Given the description of an element on the screen output the (x, y) to click on. 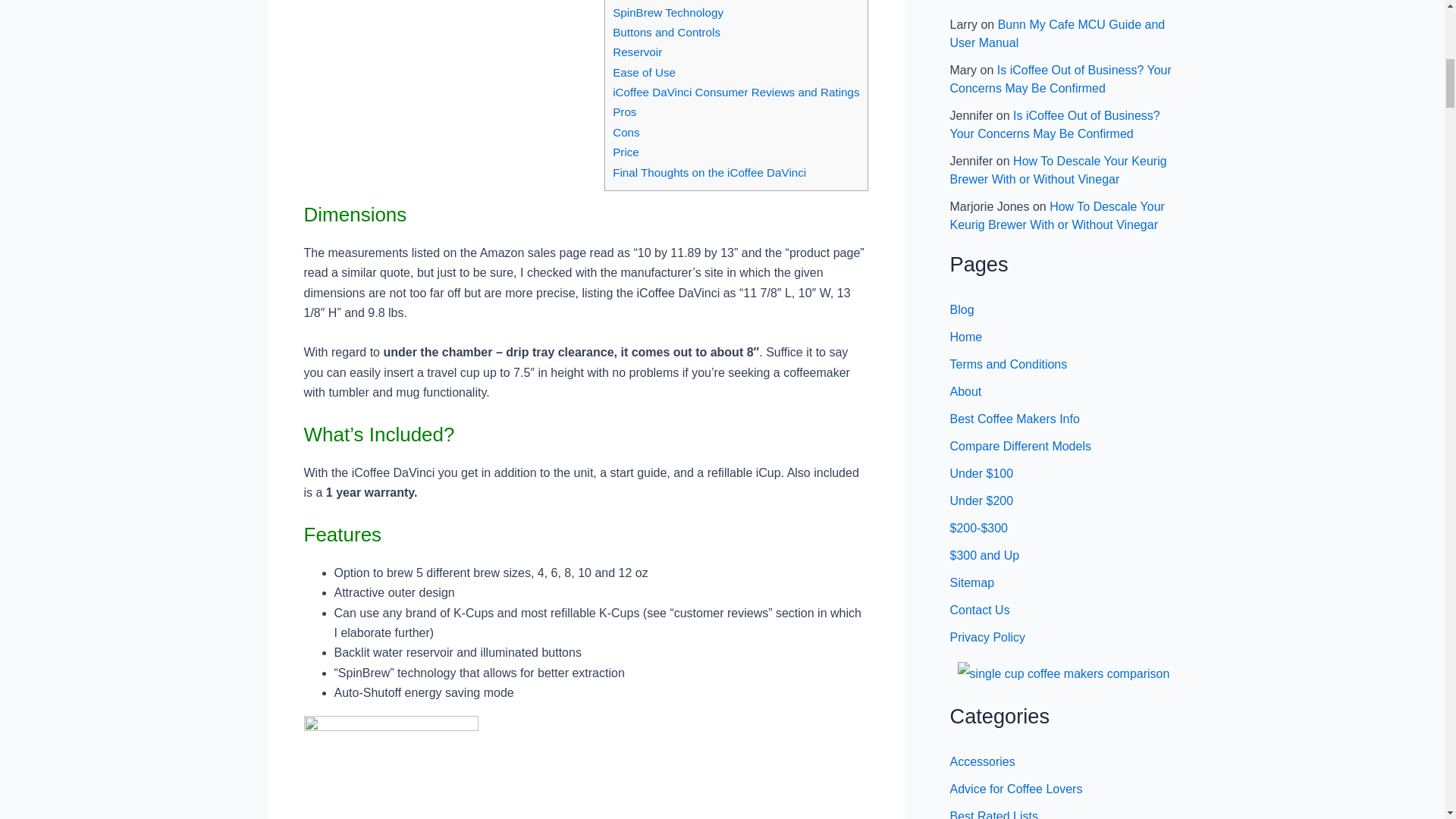
Final Thoughts on the iCoffee DaVinci (709, 172)
Price (625, 151)
Cons (625, 132)
SpinBrew Technology (667, 11)
Ease of Use (643, 72)
Pros (624, 111)
Reservoir (637, 51)
Buttons and Controls (666, 31)
iCoffee DaVinci Consumer Reviews and Ratings (735, 91)
